Given the description of an element on the screen output the (x, y) to click on. 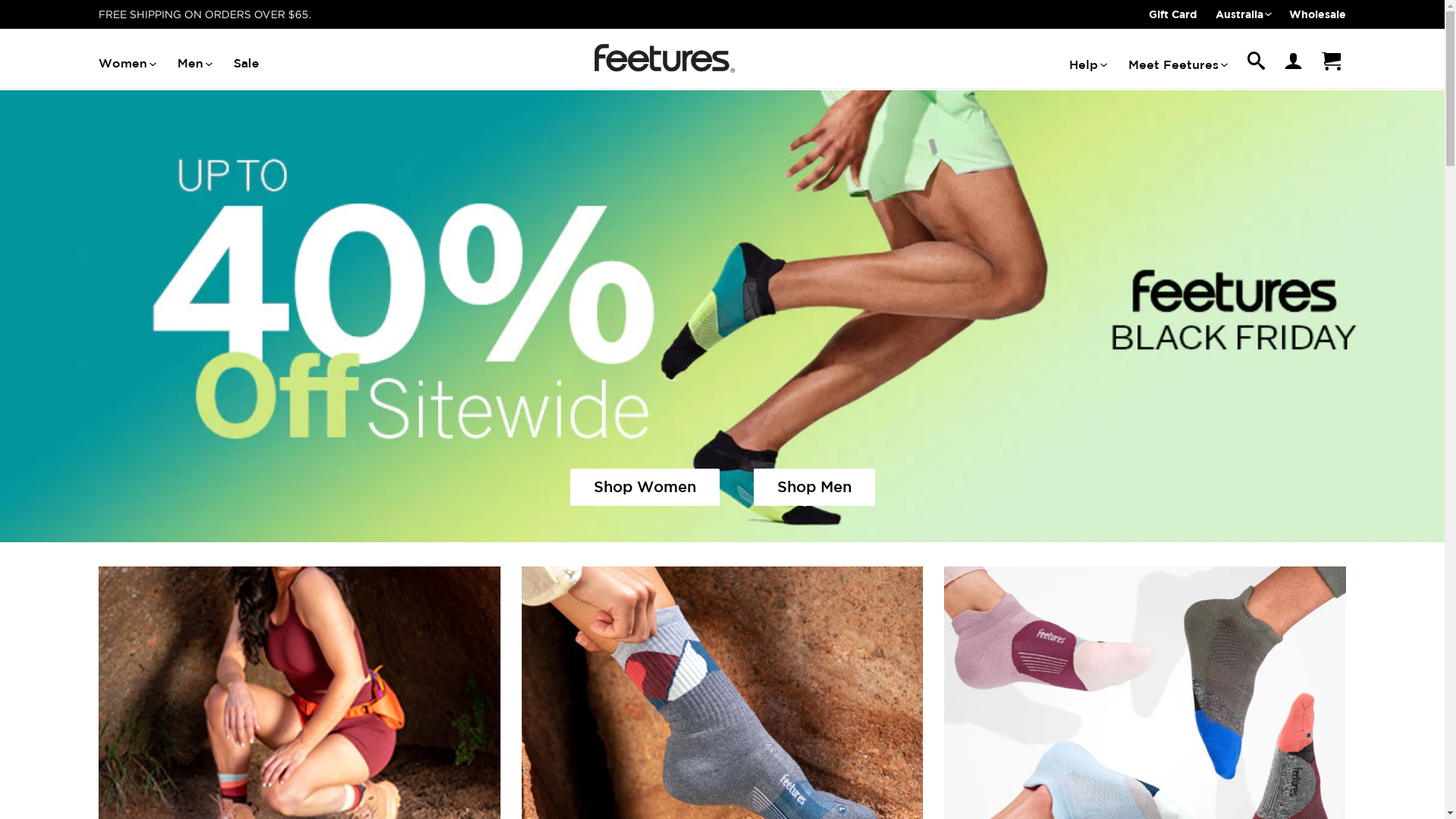
Shop Men Element type: text (814, 486)
Wholesale Element type: text (1317, 13)
Search Element type: text (1255, 64)
Women Element type: text (126, 63)
Shop Women Element type: text (644, 486)
Sale Element type: text (245, 63)
Log In Element type: text (1292, 63)
Cart Element type: text (1330, 63)
Men Element type: text (193, 63)
FREE SHIPPING ON ORDERS OVER $65. Element type: text (204, 13)
Help Element type: text (1087, 64)
Meet Feetures Element type: text (1176, 64)
Gift Card Element type: text (1172, 13)
